Given the description of an element on the screen output the (x, y) to click on. 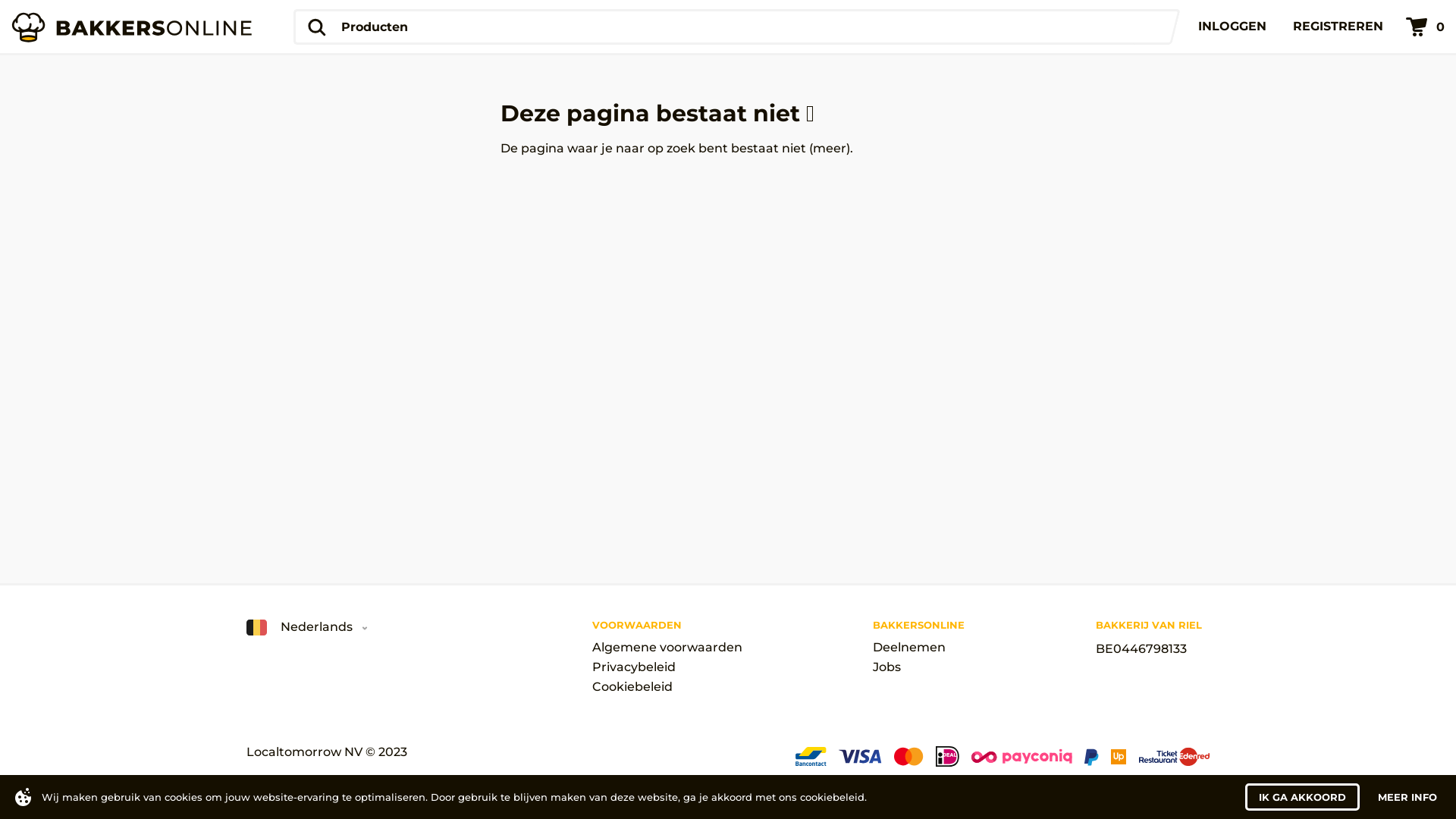
Jobs Element type: text (918, 667)
MEER INFO Element type: text (1407, 796)
Cookiebeleid Element type: text (666, 686)
Nederlands Element type: text (306, 627)
Algemene voorwaarden Element type: text (666, 647)
REGISTREREN Element type: text (1337, 26)
Privacybeleid Element type: text (666, 667)
INLOGGEN Element type: text (1231, 26)
IK GA AKKOORD Element type: text (1302, 796)
Deelnemen Element type: text (918, 647)
